Given the description of an element on the screen output the (x, y) to click on. 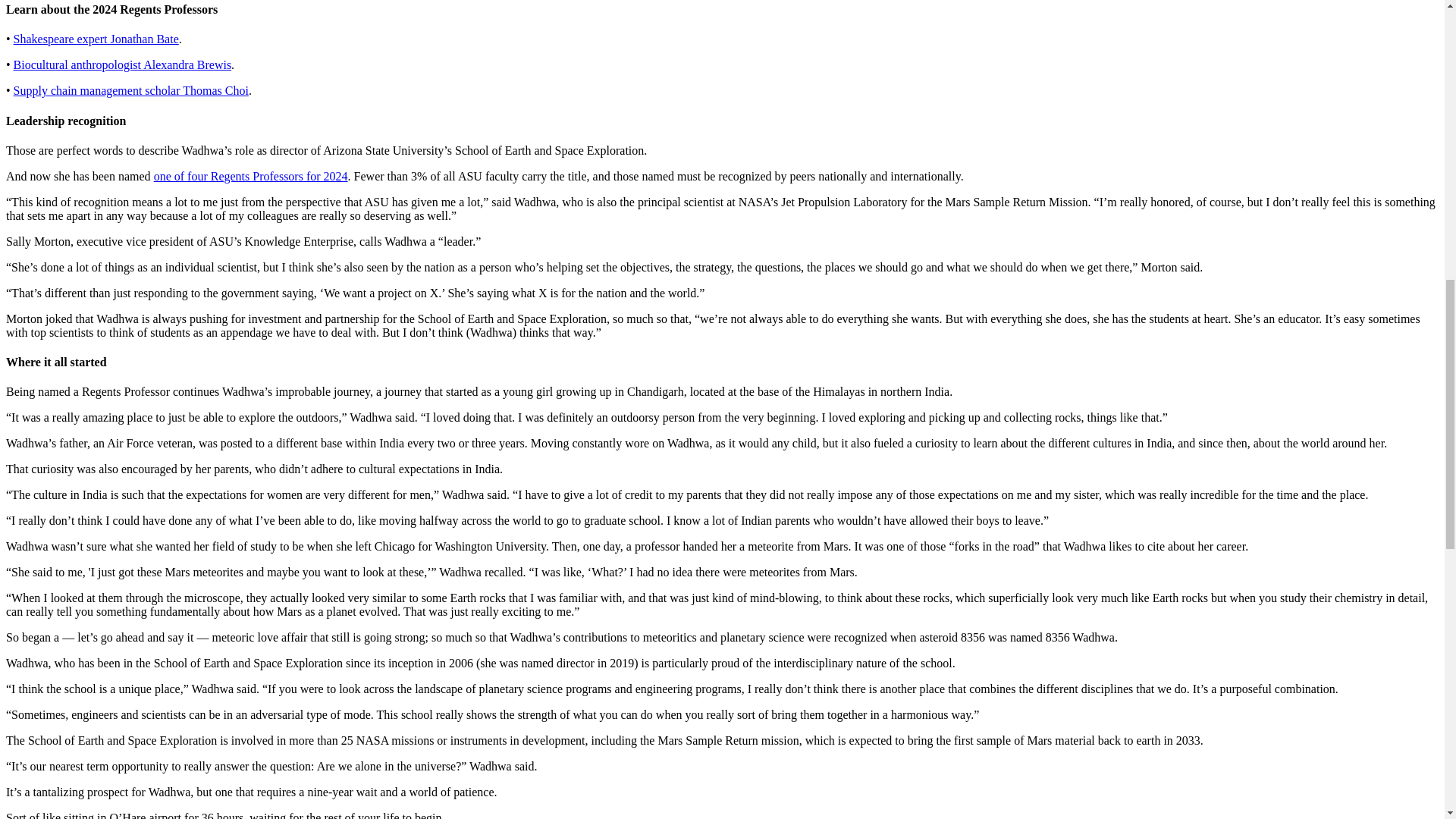
Shakespeare expert Jonathan Bate (96, 38)
Biocultural anthropologist Alexandra Brewis (122, 64)
one of four Regents Professors for 2024 (250, 175)
Supply chain management scholar Thomas Choi (130, 90)
